Given the description of an element on the screen output the (x, y) to click on. 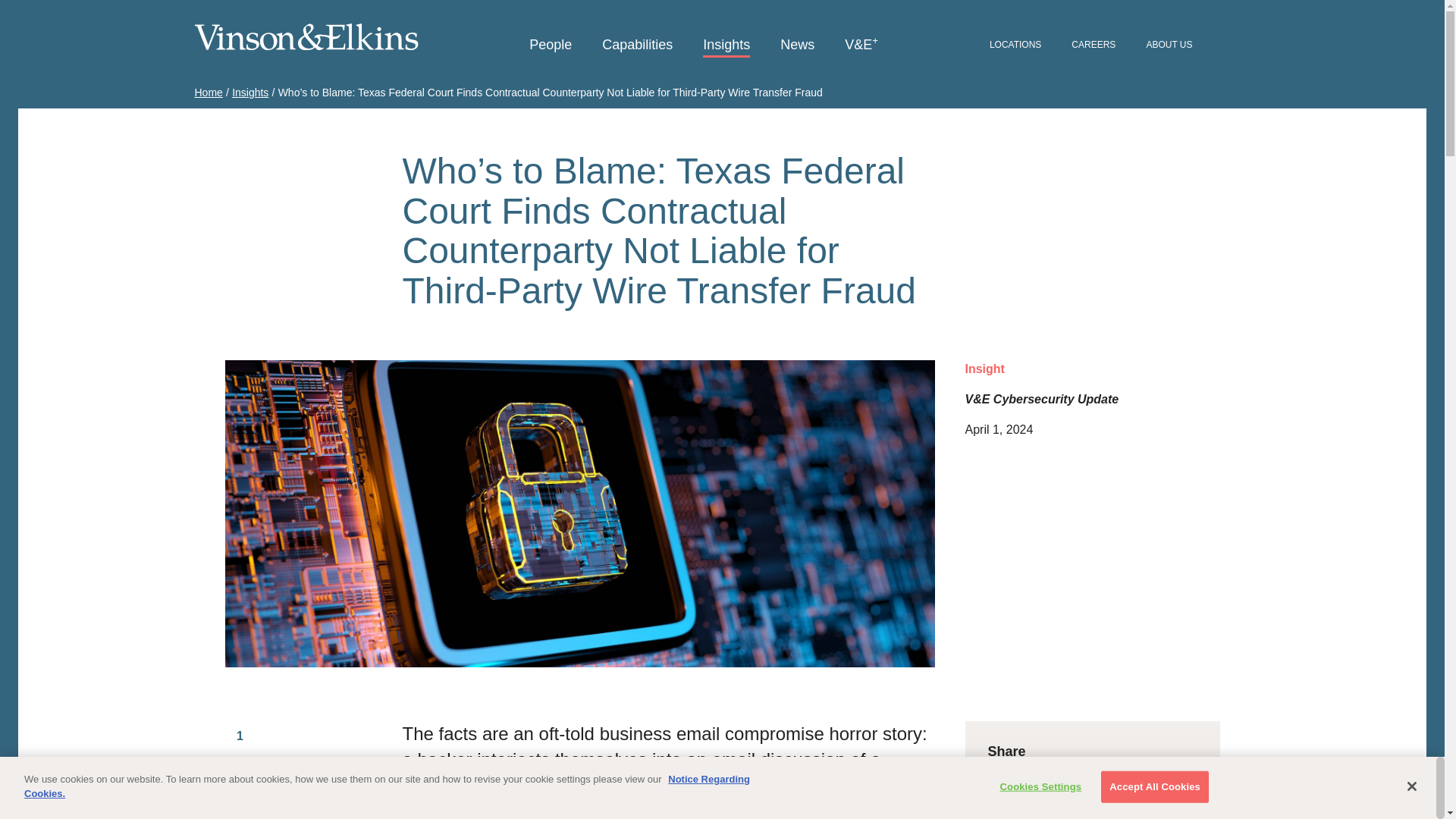
Home (207, 92)
Insights (726, 45)
Insights (249, 92)
LOCATIONS (1015, 45)
People (550, 45)
ABOUT US (1168, 45)
2 (239, 777)
News (796, 45)
1 (239, 736)
3 (239, 811)
